Given the description of an element on the screen output the (x, y) to click on. 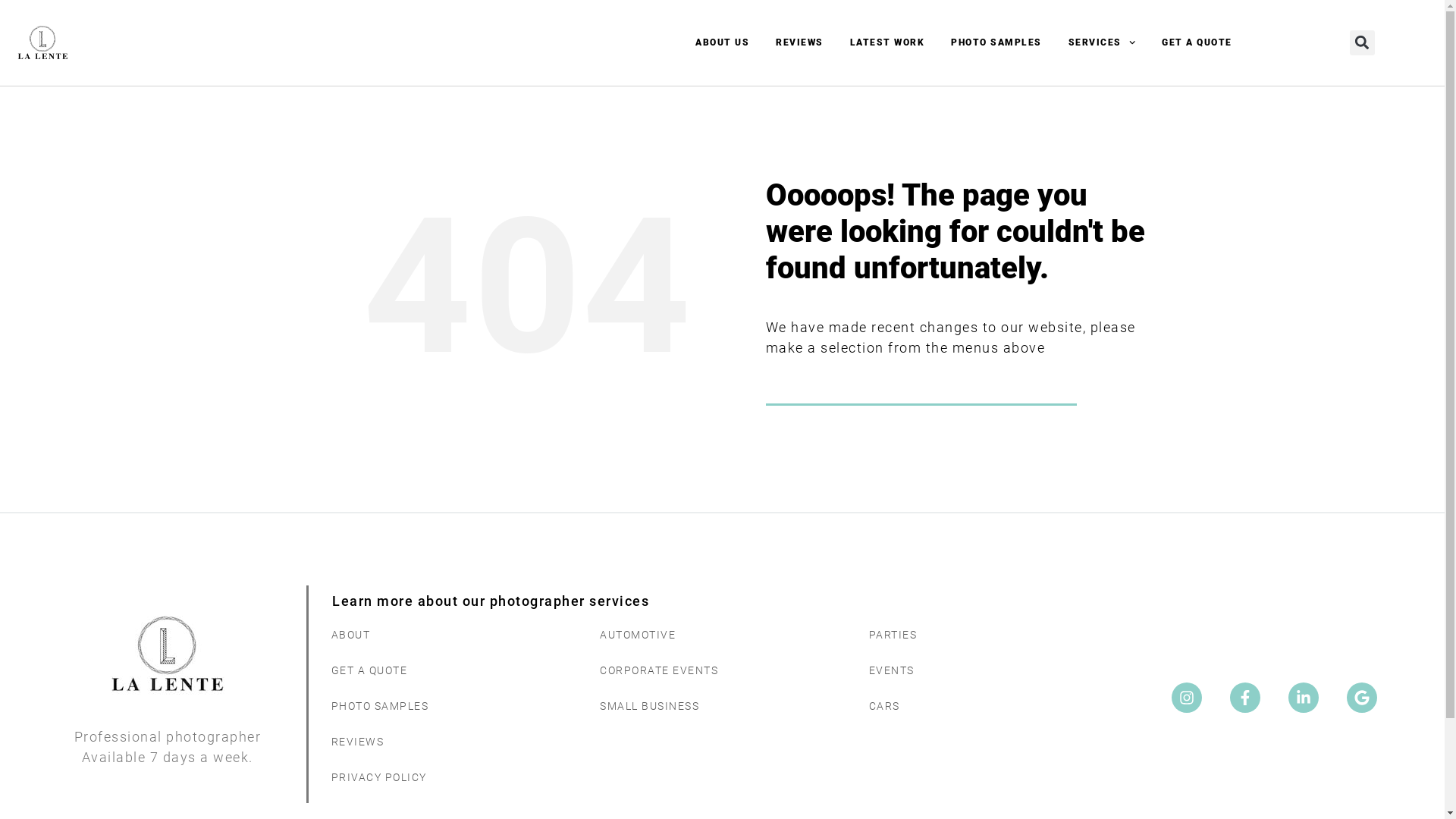
REVIEWS Element type: text (799, 42)
GET A QUOTE Element type: text (450, 670)
REVIEWS Element type: text (450, 741)
GET A QUOTE Element type: text (1196, 42)
LATEST WORK Element type: text (887, 42)
ABOUT US Element type: text (722, 42)
PARTIES Element type: text (988, 634)
CORPORATE EVENTS Element type: text (718, 670)
PHOTO SAMPLES Element type: text (450, 706)
CARS Element type: text (988, 706)
PHOTO SAMPLES Element type: text (995, 42)
PRIVACY POLICY Element type: text (450, 777)
SMALL BUSINESS Element type: text (718, 706)
EVENTS Element type: text (988, 670)
AUTOMOTIVE Element type: text (718, 634)
SERVICES Element type: text (1101, 42)
ABOUT Element type: text (450, 634)
